Given the description of an element on the screen output the (x, y) to click on. 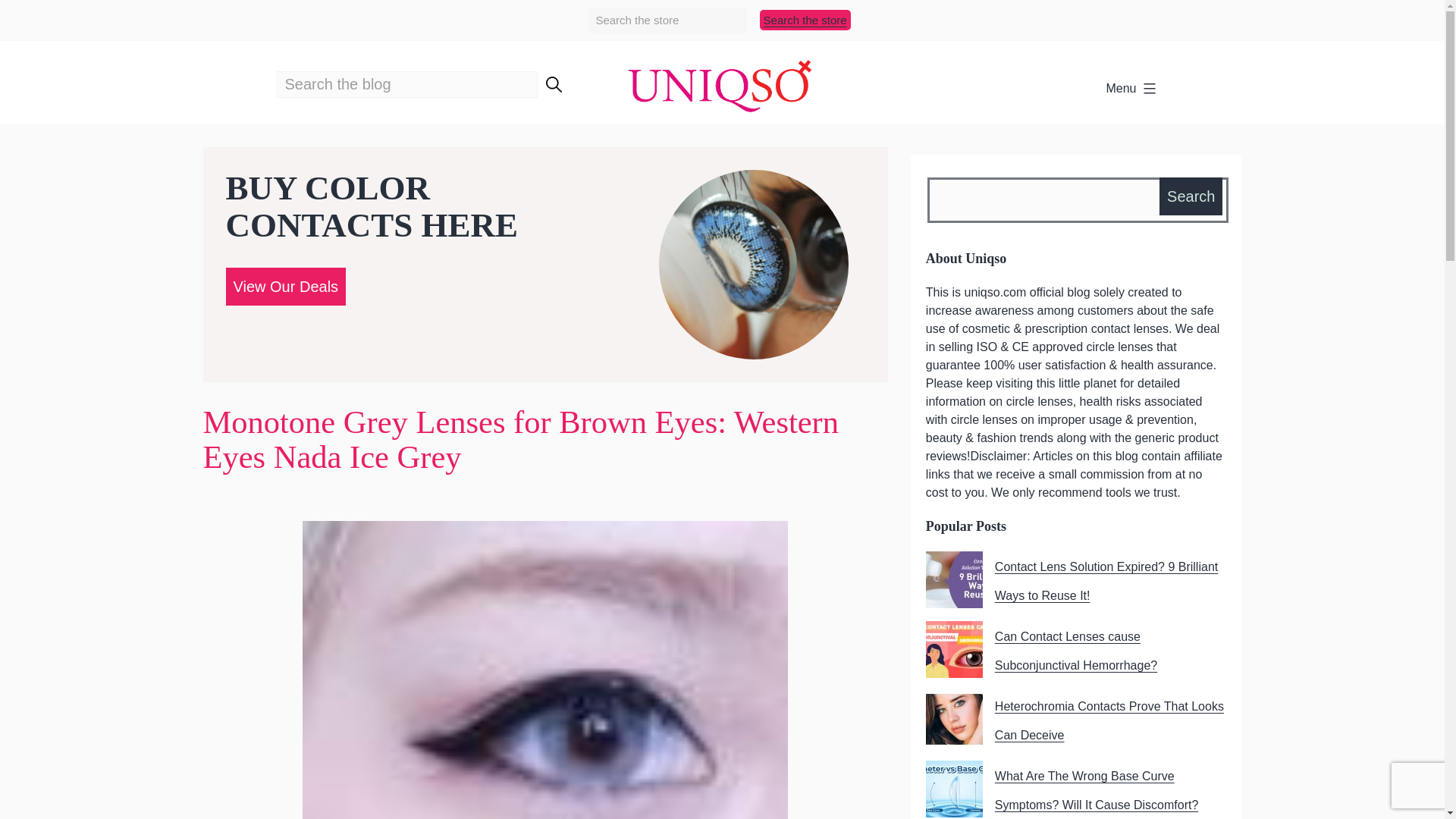
Search (1190, 196)
View Our Deals (285, 285)
Search the store (805, 19)
Menu (1131, 88)
Search (1190, 196)
